Given the description of an element on the screen output the (x, y) to click on. 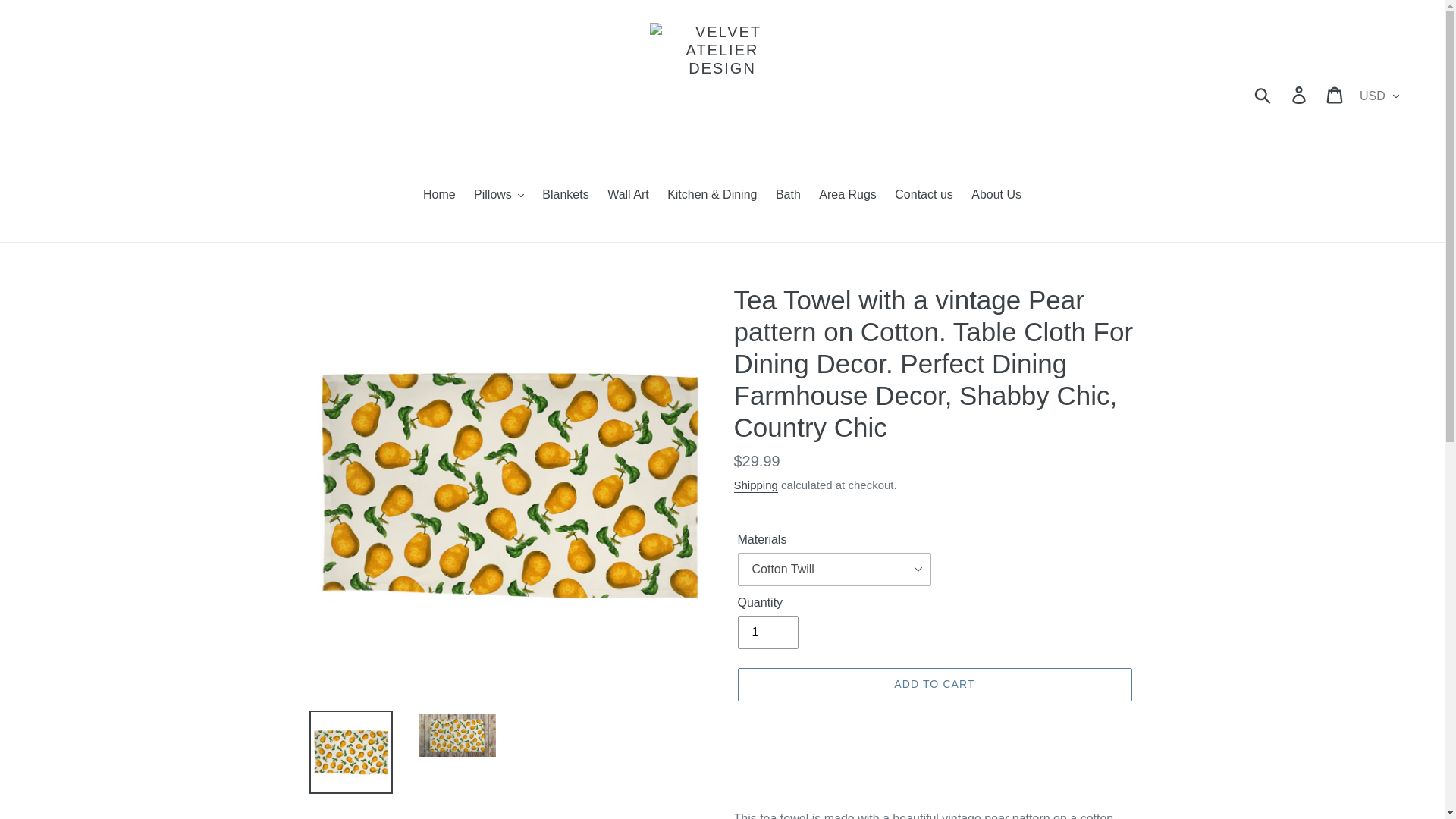
Submit (1263, 94)
Contact us (922, 195)
Shipping (755, 485)
Home (438, 195)
Area Rugs (846, 195)
Wall Art (627, 195)
Bath (788, 195)
1 (766, 632)
Blankets (564, 195)
ADD TO CART (933, 684)
Log in (1299, 94)
About Us (996, 195)
Cart (1335, 94)
